Given the description of an element on the screen output the (x, y) to click on. 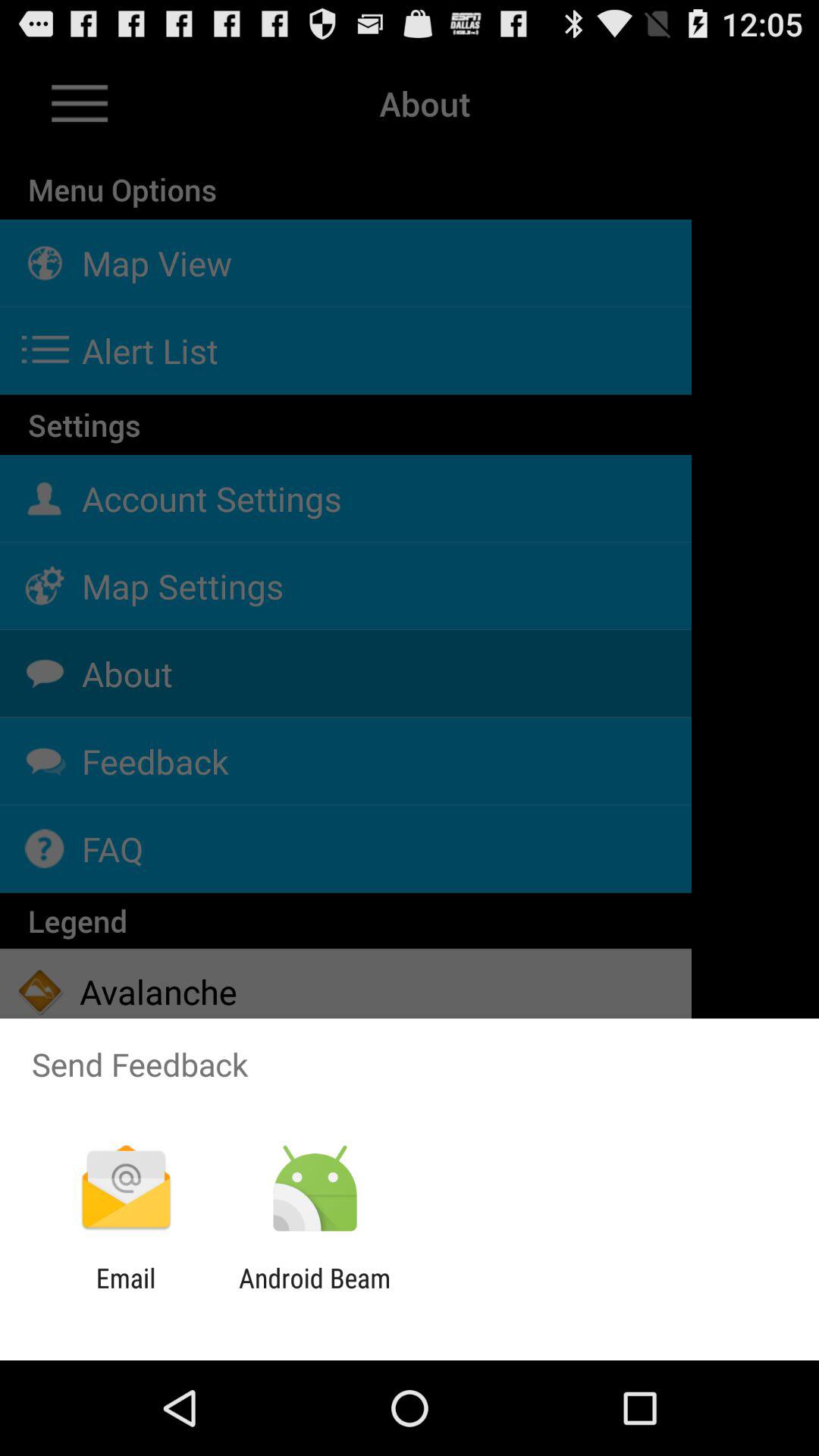
jump until email icon (125, 1293)
